Given the description of an element on the screen output the (x, y) to click on. 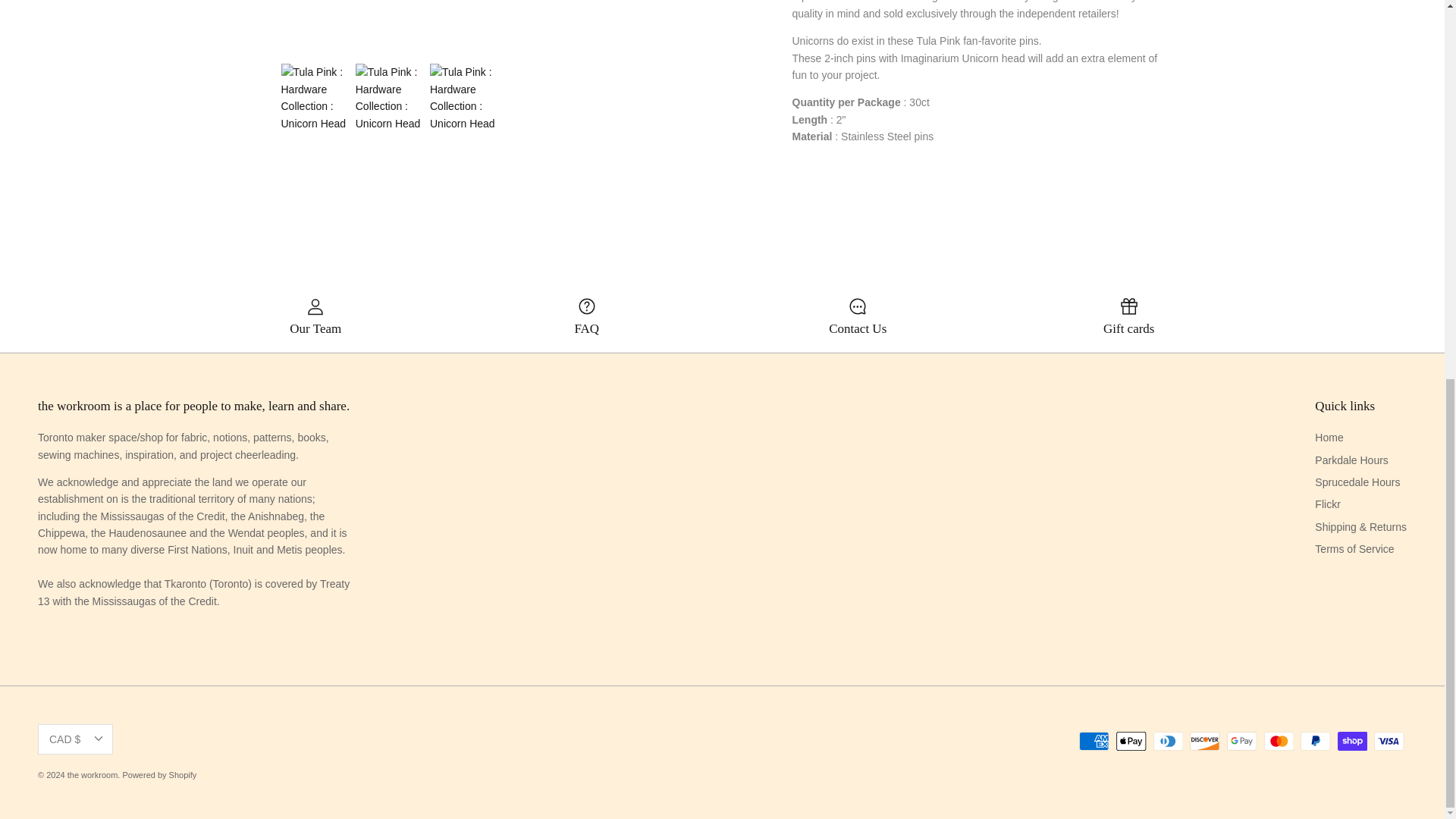
Visa (1388, 741)
Shop Pay (1352, 741)
Diners Club (1168, 741)
PayPal (1315, 741)
Google Pay (1241, 741)
Discover (1204, 741)
American Express (1093, 741)
Apple Pay (1130, 741)
Mastercard (1277, 741)
Down (97, 738)
